Given the description of an element on the screen output the (x, y) to click on. 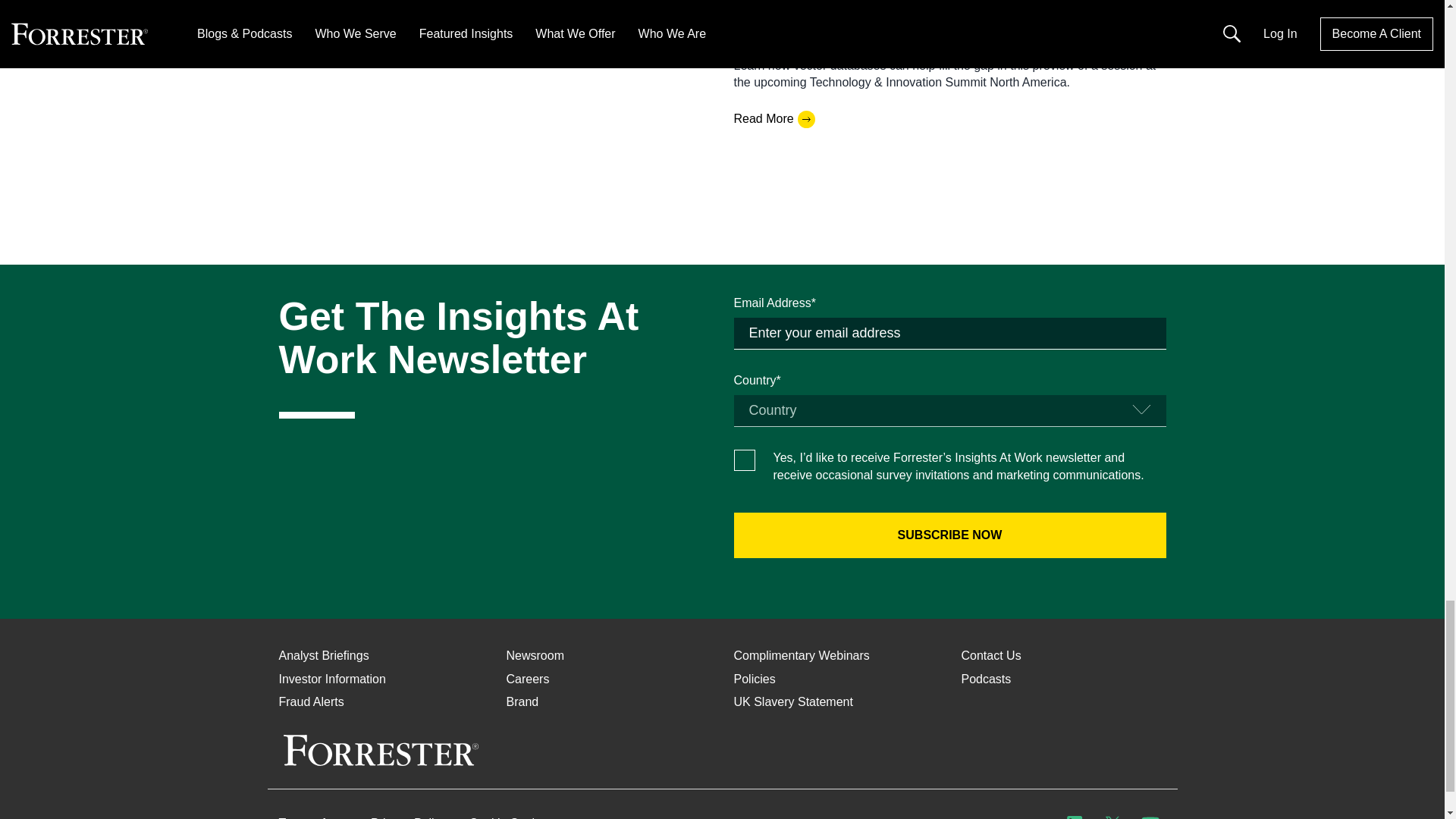
Subscribe Now (949, 534)
